Given the description of an element on the screen output the (x, y) to click on. 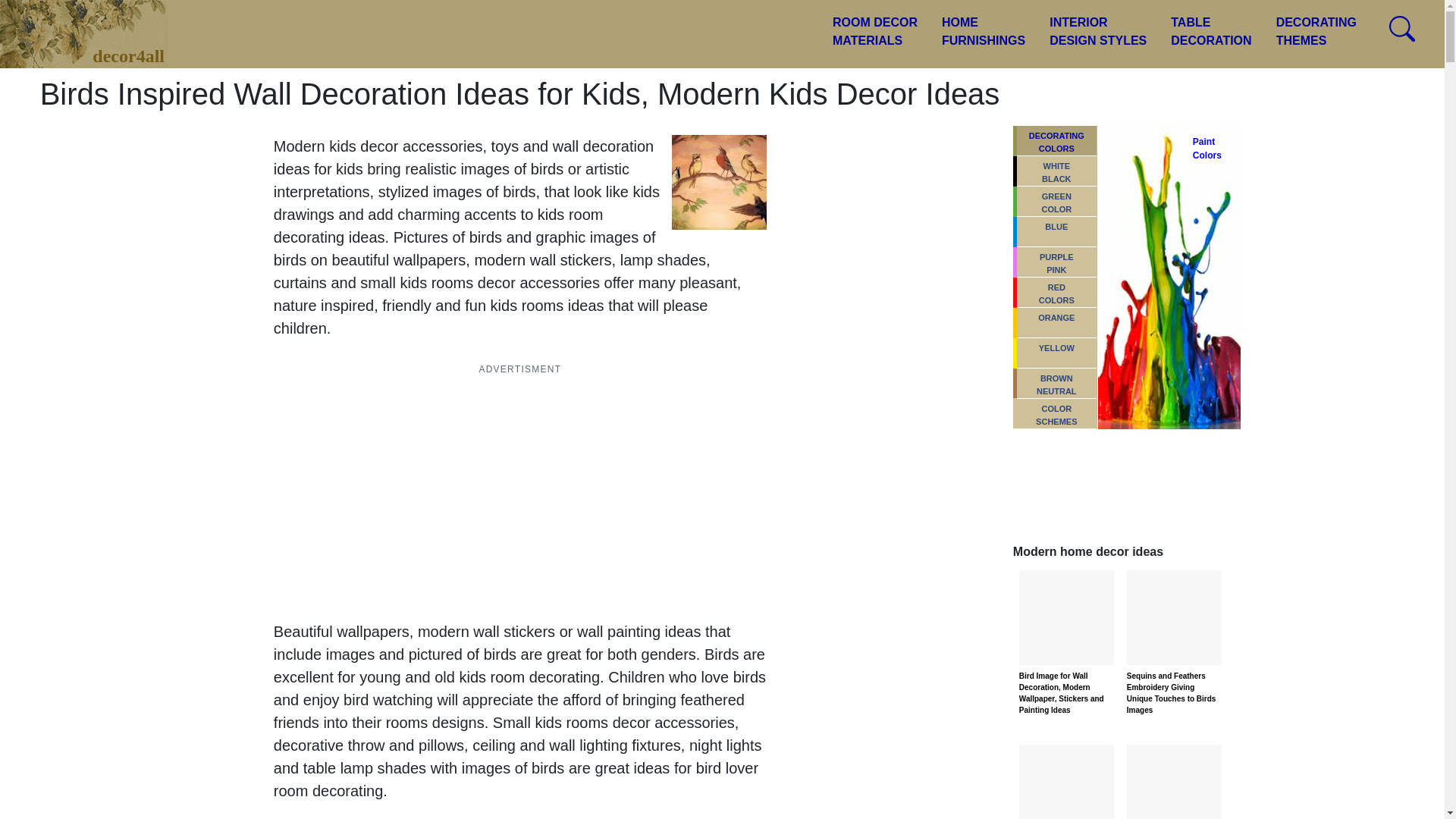
decor4all (1210, 31)
